Given the description of an element on the screen output the (x, y) to click on. 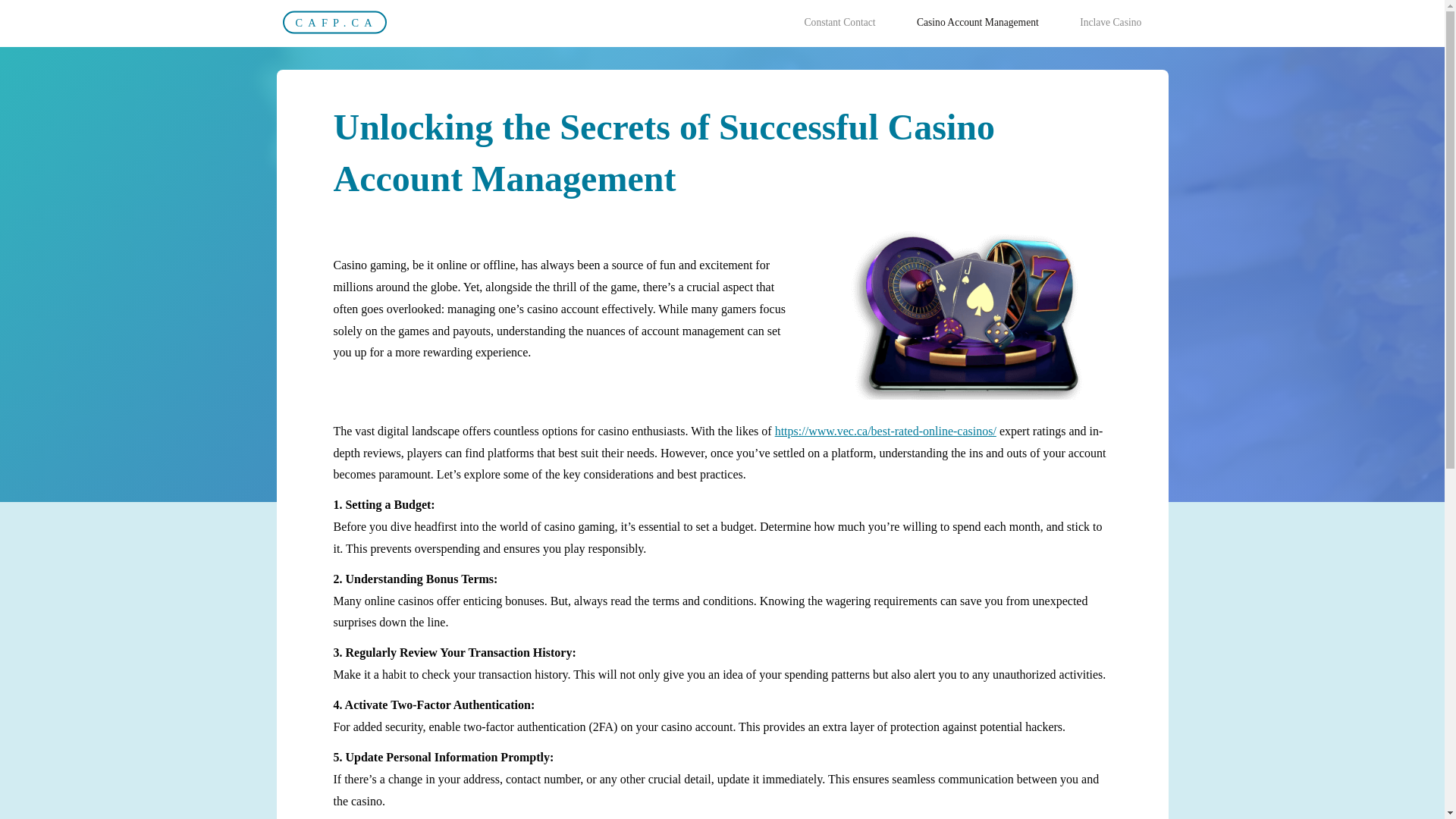
CAFP.CA (333, 22)
Casino Account Management (977, 22)
Constant Contact (839, 22)
Inclave Casino (1110, 22)
